Given the description of an element on the screen output the (x, y) to click on. 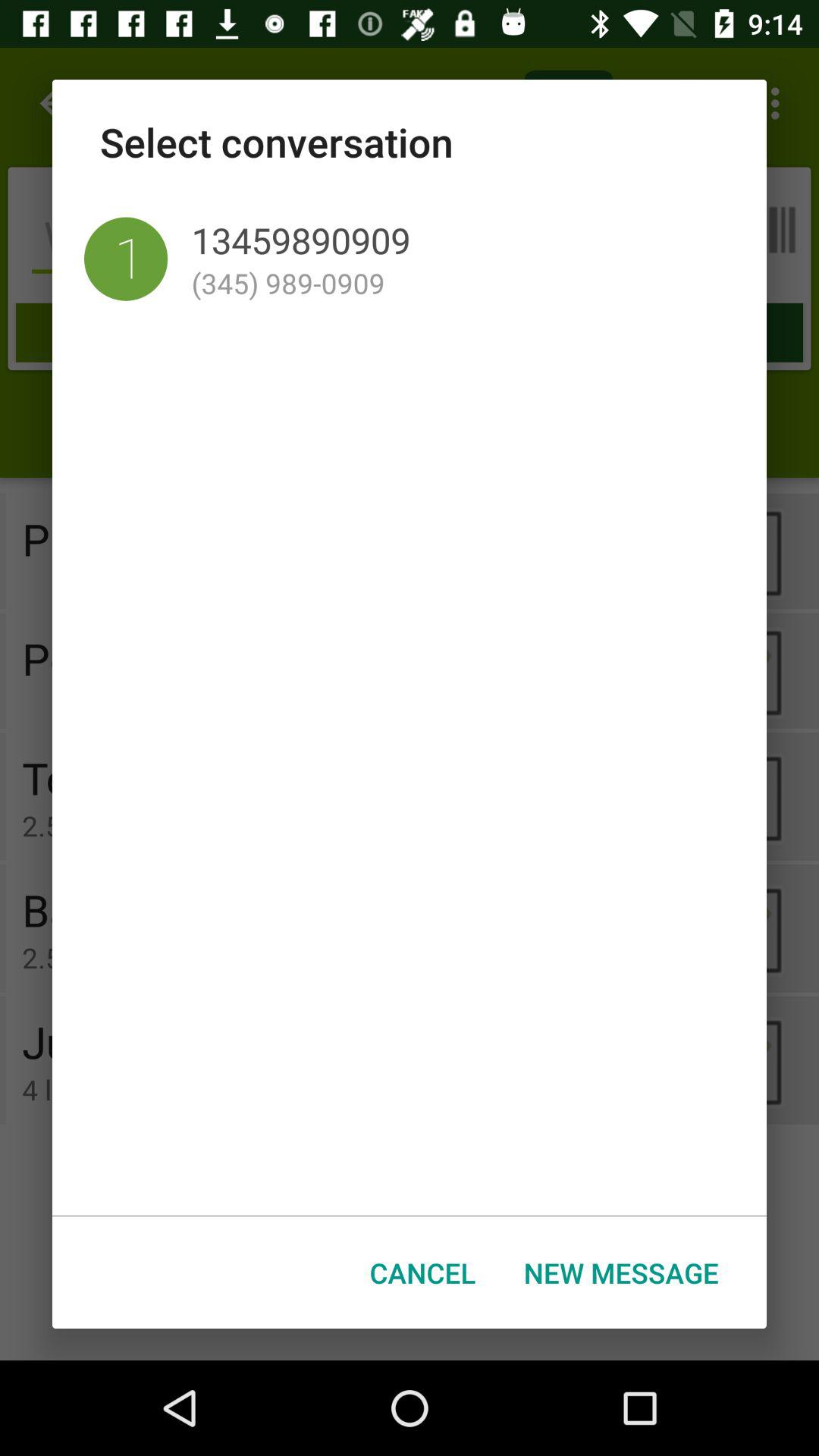
select item below select conversation (125, 258)
